Given the description of an element on the screen output the (x, y) to click on. 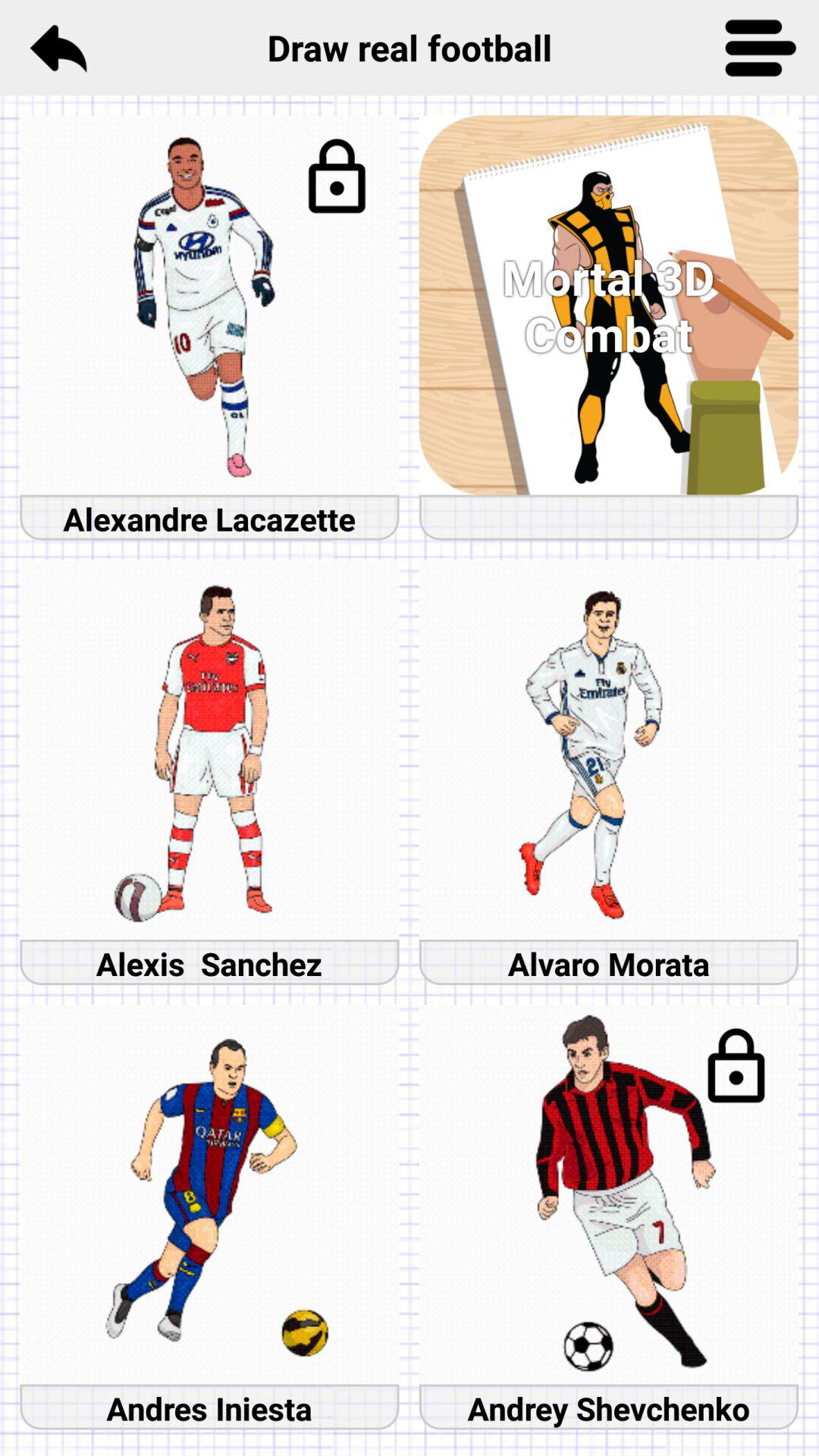
select icon next to draw real football (760, 47)
